Given the description of an element on the screen output the (x, y) to click on. 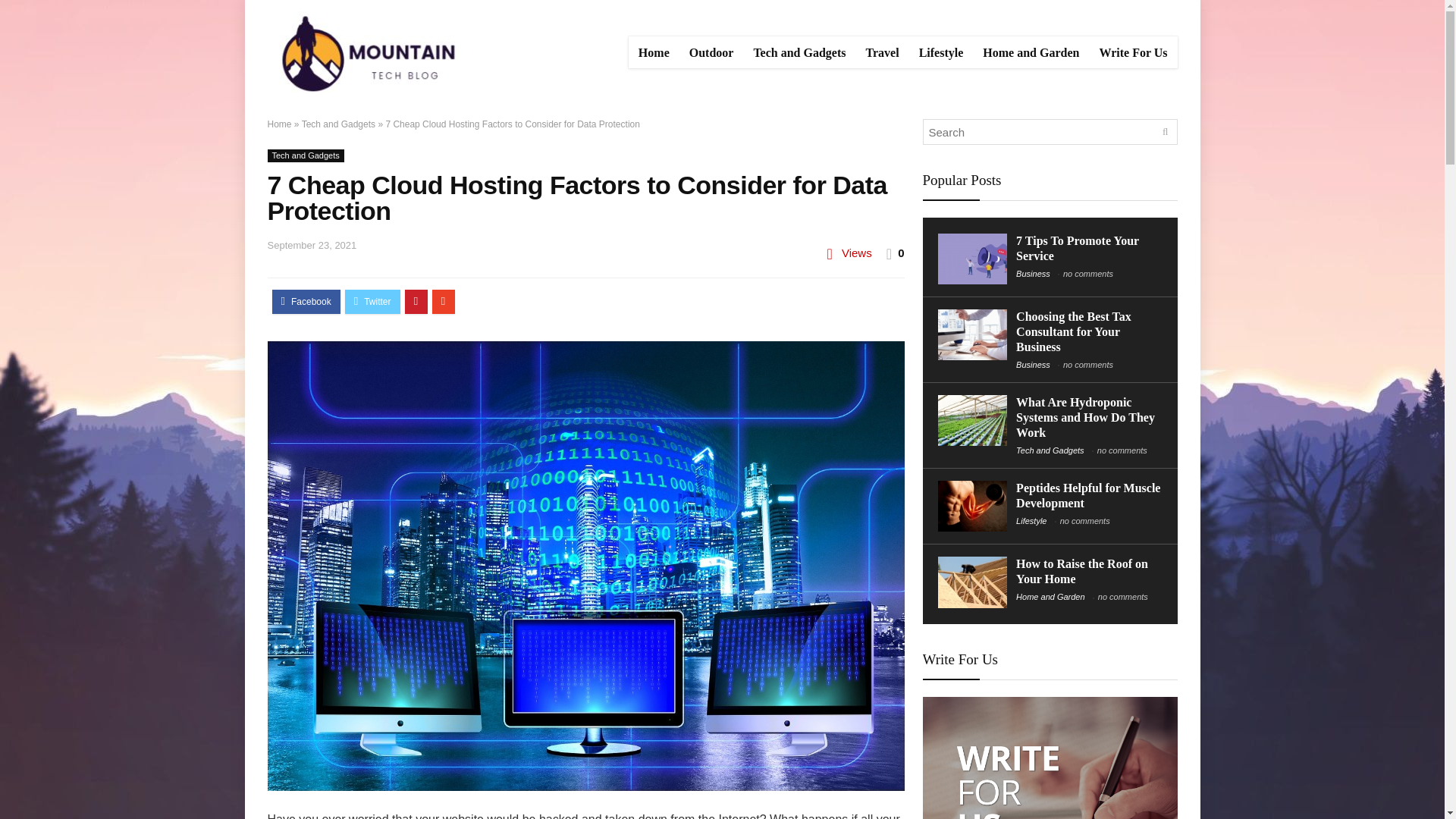
Home (278, 123)
Tech and Gadgets (304, 155)
Tech and Gadgets (338, 123)
Write For Us (1132, 51)
Tech and Gadgets (799, 51)
Lifestyle (941, 51)
Outdoor (711, 51)
Home and Garden (1030, 51)
Home (653, 51)
View all posts in Tech and Gadgets (304, 155)
Travel (882, 51)
